Given the description of an element on the screen output the (x, y) to click on. 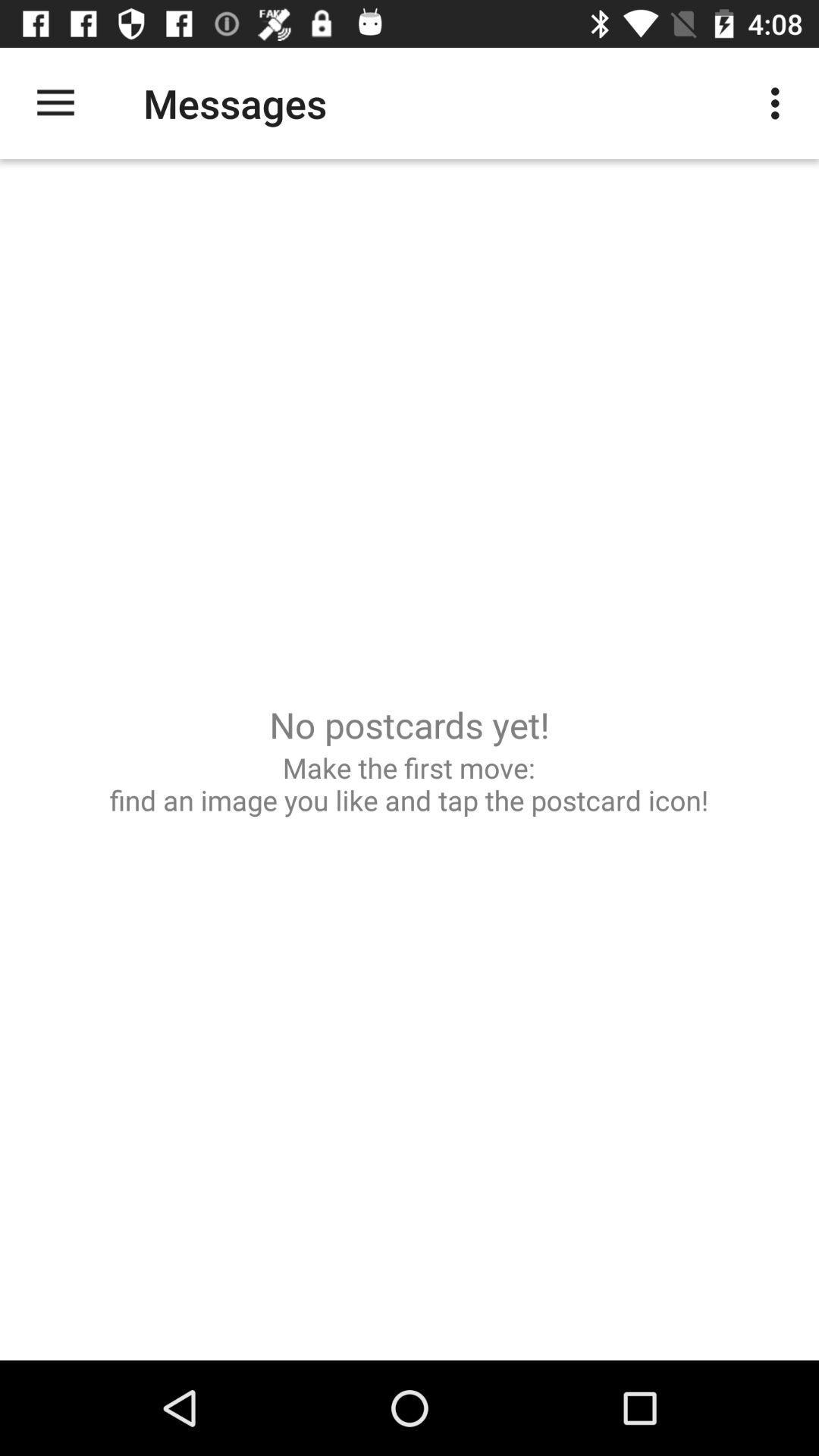
select the icon next to the messages item (779, 103)
